Given the description of an element on the screen output the (x, y) to click on. 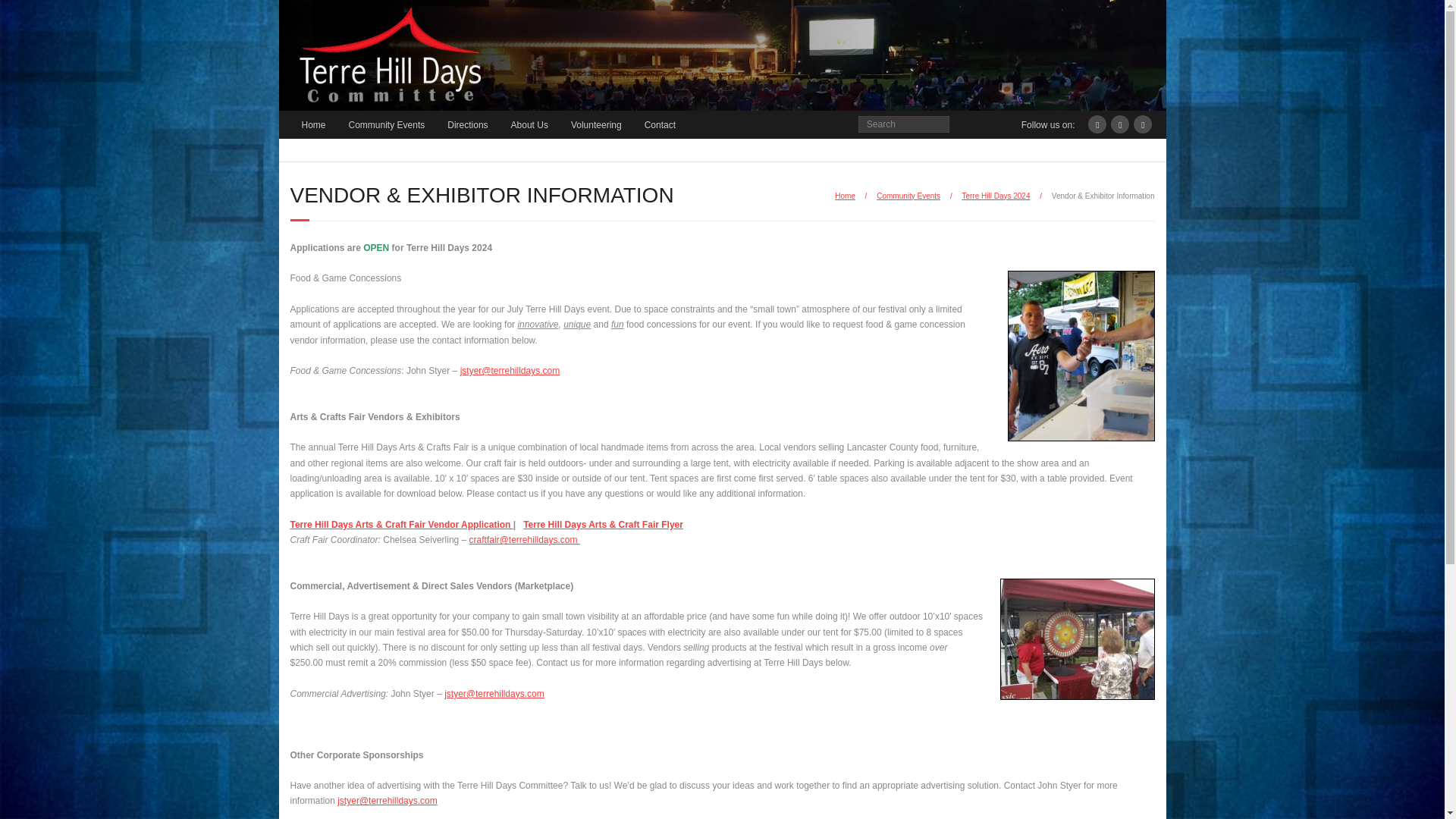
Community Events (386, 124)
About Us (529, 124)
Community Events (908, 195)
Home (845, 195)
Contact (660, 124)
Terre Hill Days 2024 (994, 195)
Directions (467, 124)
Home (312, 124)
Search (25, 13)
Volunteering (596, 124)
